Given the description of an element on the screen output the (x, y) to click on. 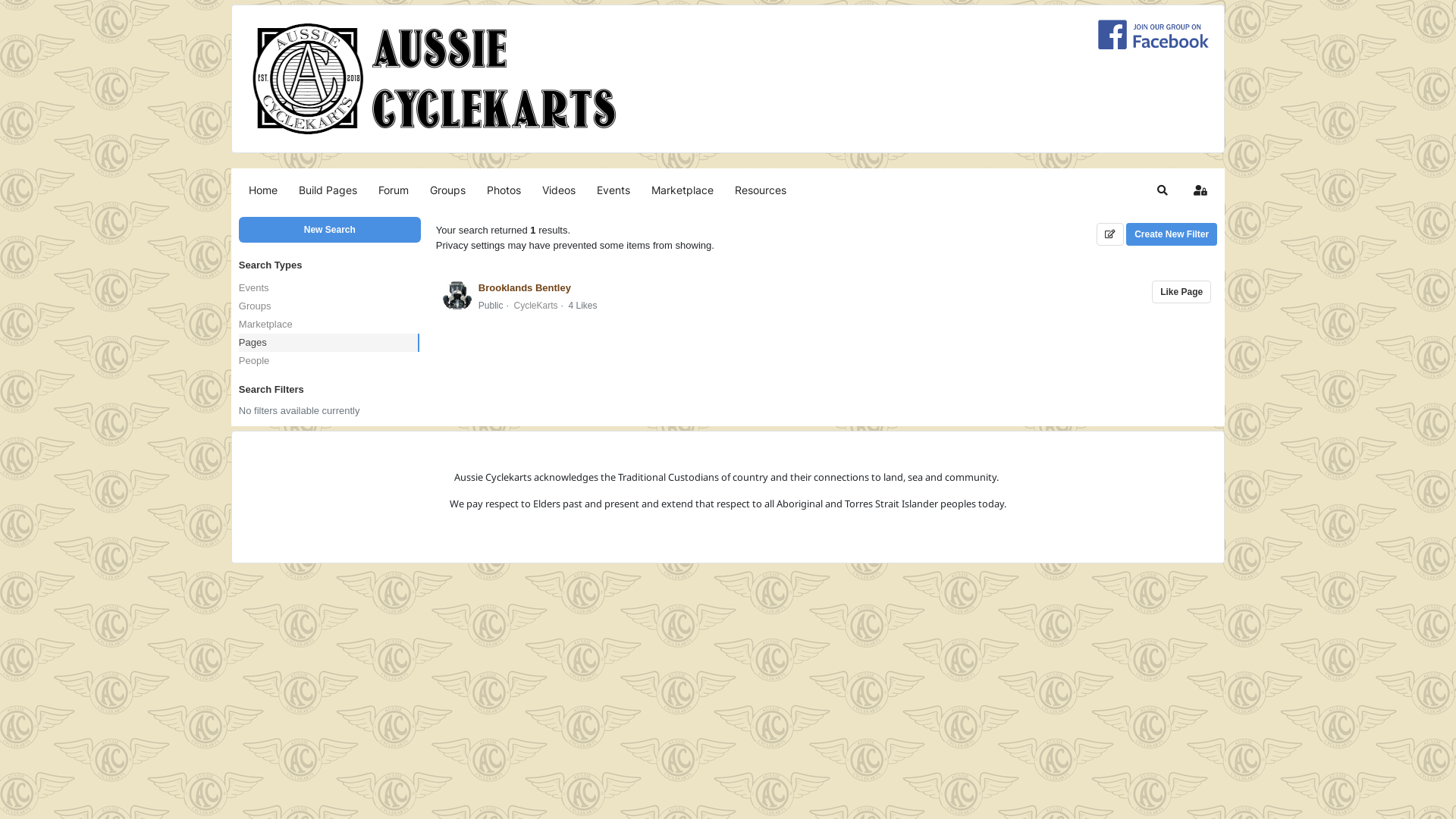
Marketplace Element type: text (682, 189)
Sign In Element type: text (1200, 189)
Groups Element type: text (447, 189)
Videos Element type: text (558, 189)
Forum Element type: text (393, 189)
Create New Filter Element type: text (1171, 233)
Build Pages Element type: text (327, 189)
New Search Element type: text (329, 229)
Home Element type: text (262, 189)
People Element type: text (328, 360)
Search Element type: text (1162, 189)
Events Element type: text (328, 288)
Events Element type: text (613, 189)
Like Page Element type: text (1181, 291)
Pages Element type: text (328, 342)
Brooklands Bentley Element type: text (524, 287)
Groups Element type: text (328, 306)
CycleKarts Element type: text (536, 305)
Marketplace Element type: text (328, 324)
Resources Element type: text (760, 189)
Photos Element type: text (503, 189)
